Given the description of an element on the screen output the (x, y) to click on. 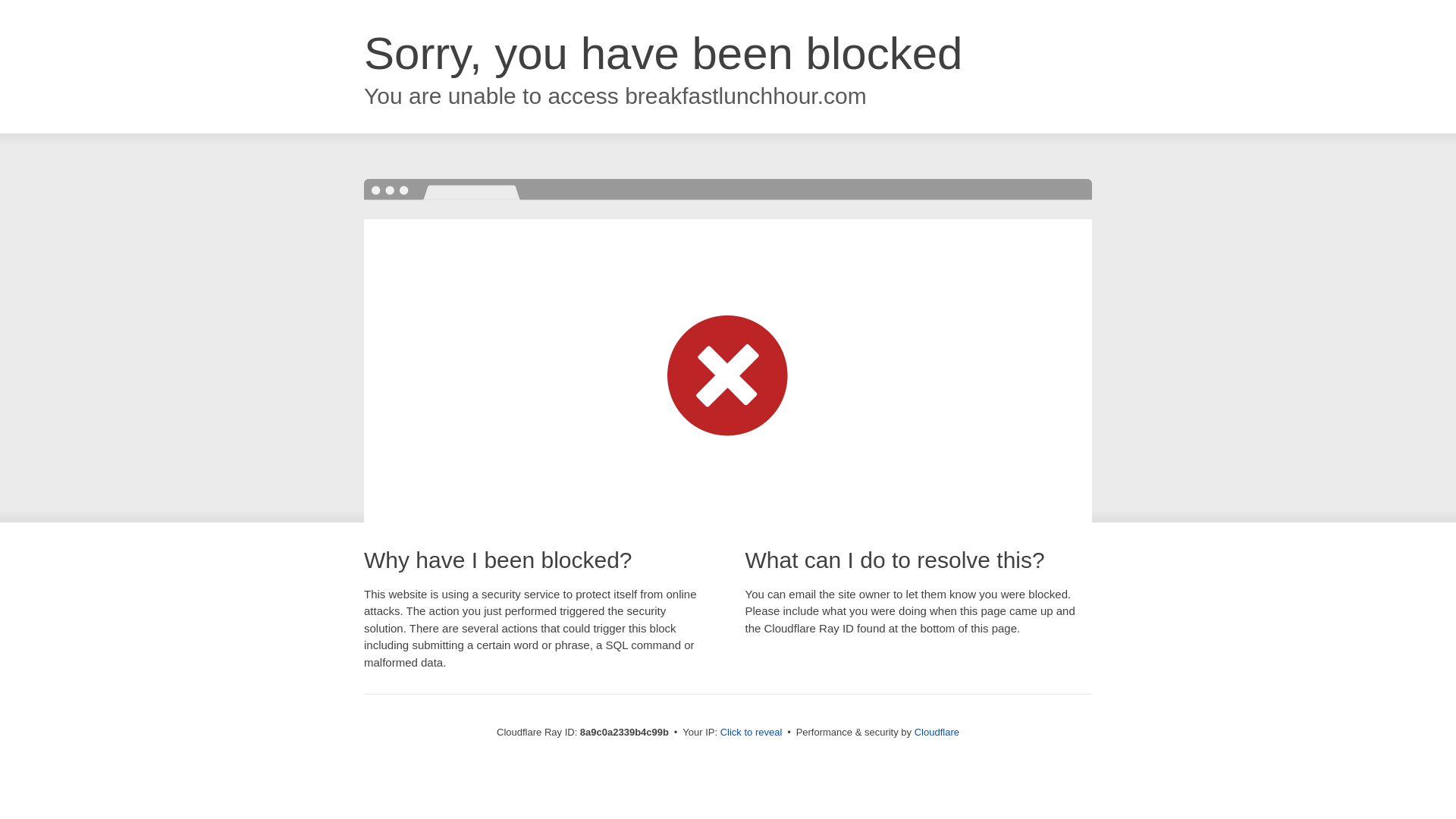
Cloudflare (936, 731)
Click to reveal (751, 732)
